Given the description of an element on the screen output the (x, y) to click on. 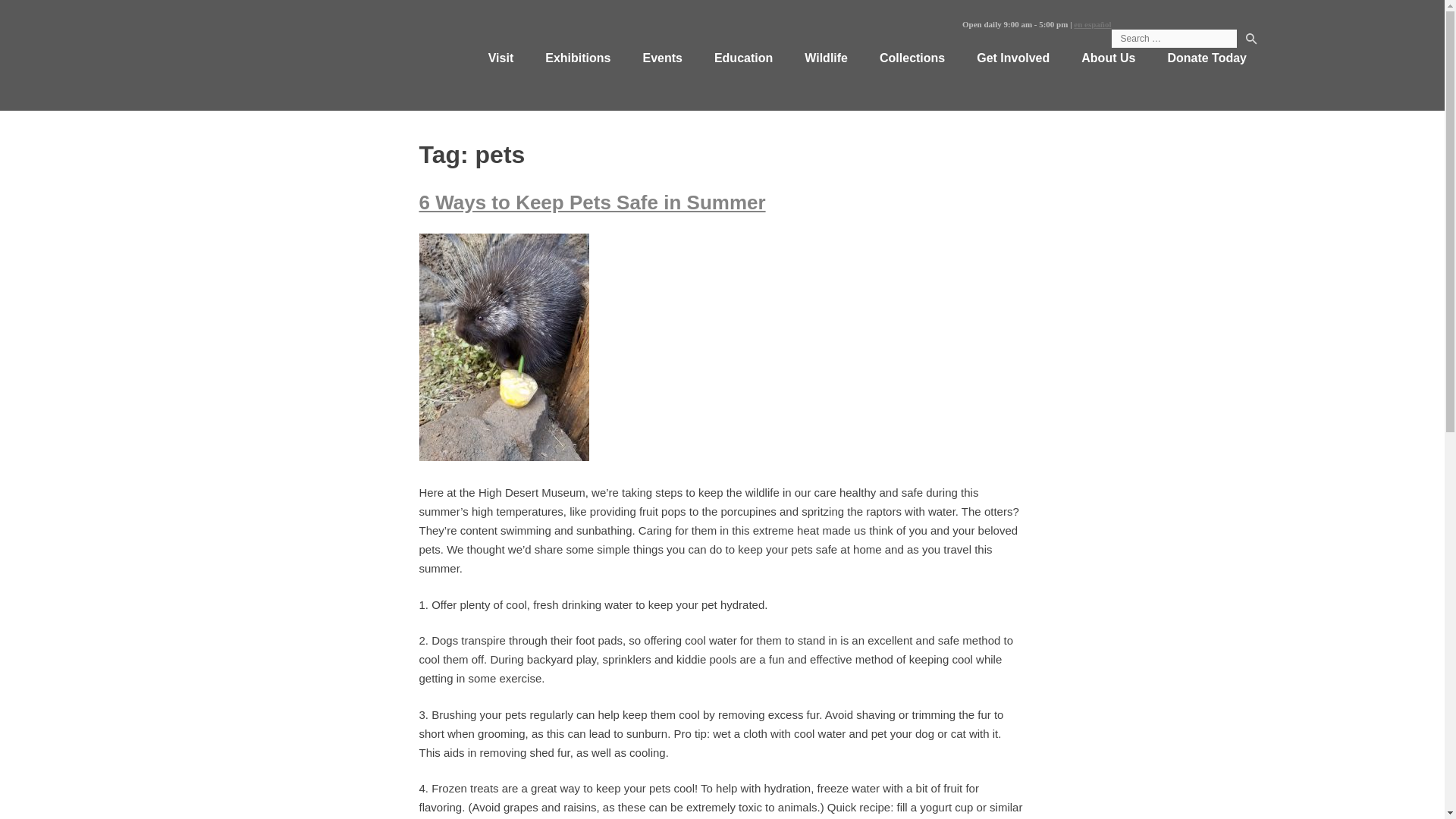
Visit (500, 58)
Events (661, 58)
Search (1251, 41)
Exhibitions (577, 58)
Education (743, 58)
Search (1251, 41)
Search (1251, 41)
Wildlife (826, 58)
